Given the description of an element on the screen output the (x, y) to click on. 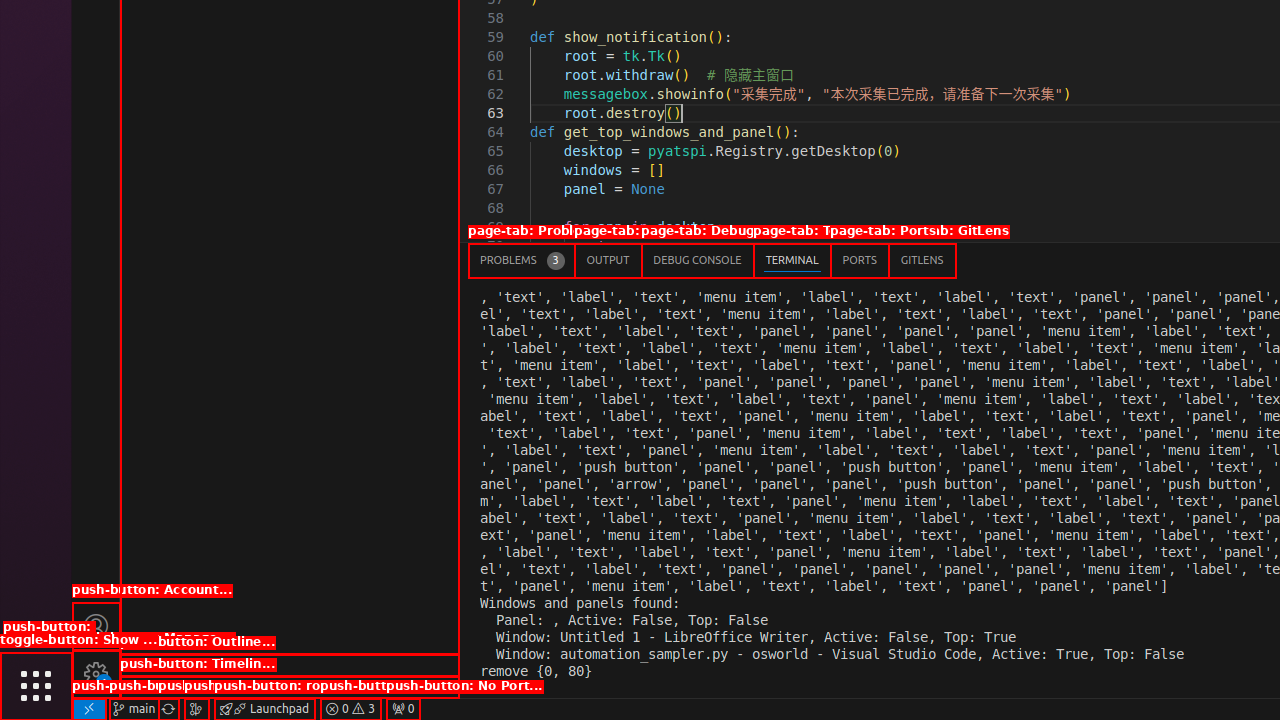
Ports Element type: page-tab (859, 260)
Accounts Element type: push-button (96, 626)
GitLens Element type: page-tab (922, 260)
rocket gitlens-unplug Launchpad, GitLens Launchpad ᴘʀᴇᴠɪᴇᴡ    &mdash;    [$(question)](command:gitlens.launchpad.indicator.action?%22info%22 "What is this?") [$(gear)](command:workbench.action.openSettings?%22gitlens.launchpad%22 "Settings")  |  [$(circle-slash) Hide](command:gitlens.launchpad.indicator.action?%22hide%22 "Hide") --- [Launchpad](command:gitlens.launchpad.indicator.action?%info%22 "Learn about Launchpad") organizes your pull requests into actionable groups to help you focus and keep your team unblocked. It's always accessible using the `GitLens: Open Launchpad` command from the Command Palette. --- [Connect an integration](command:gitlens.showLaunchpad?%7B%22source%22%3A%22launchpad-indicator%22%7D "Connect an integration") to get started. Element type: push-button (264, 709)
Problems (Ctrl+Shift+M) - Total 3 Problems Element type: page-tab (521, 260)
